Given the description of an element on the screen output the (x, y) to click on. 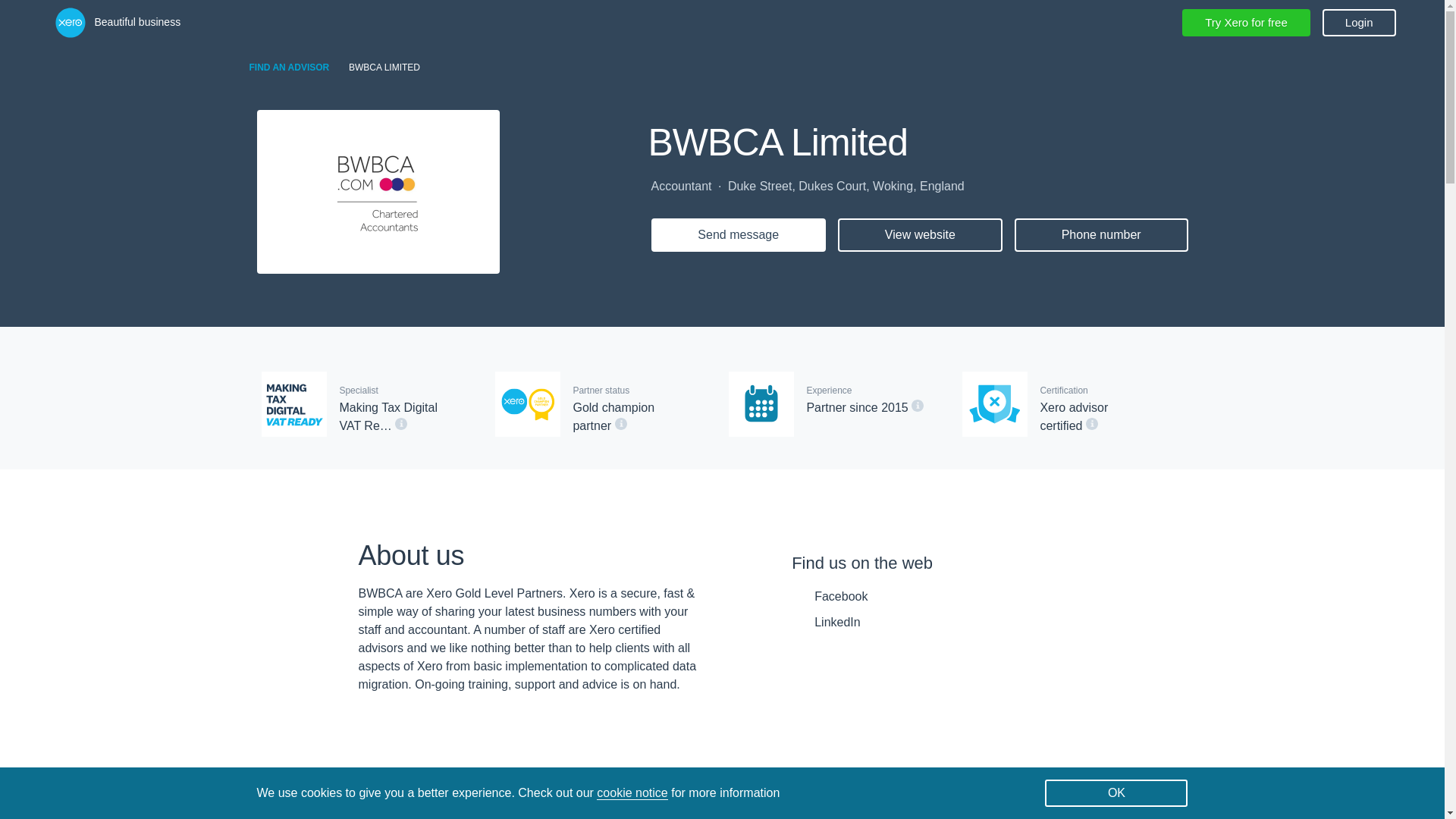
Send message (737, 234)
Facebook (852, 597)
FIND AN ADVISOR (288, 67)
Try Xero for free (1246, 22)
View website (920, 234)
OK (1116, 792)
LinkedIn (852, 622)
Login (1359, 22)
cookie notice (631, 793)
Phone number (1101, 234)
Xero (69, 22)
